Given the description of an element on the screen output the (x, y) to click on. 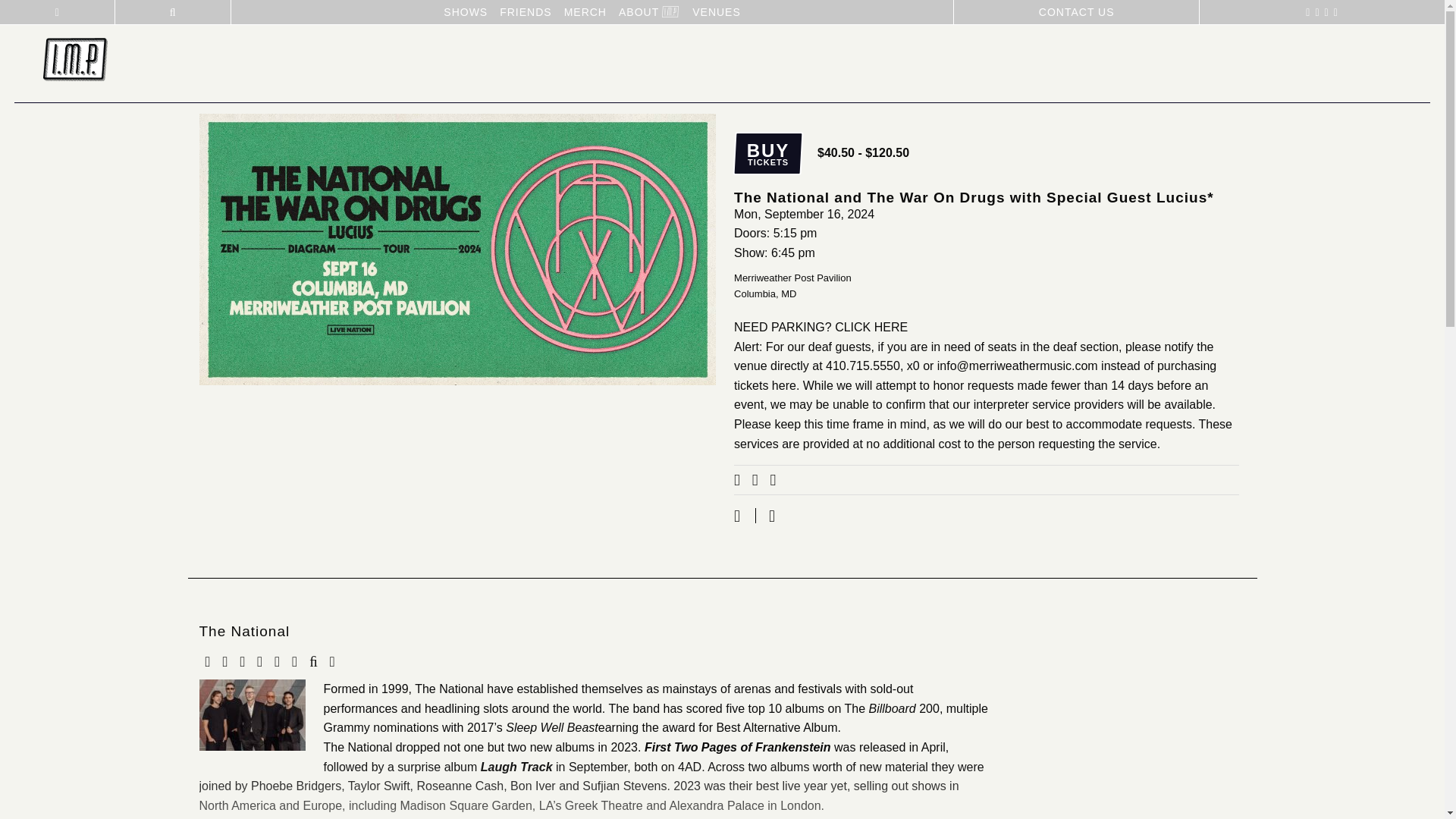
CLICK HERE (767, 153)
CONTACT US (870, 327)
VENUES (1075, 12)
IMP (715, 12)
ABOUT (75, 60)
SHOWS (638, 12)
MERCH (465, 12)
FRIENDS (584, 12)
